Given the description of an element on the screen output the (x, y) to click on. 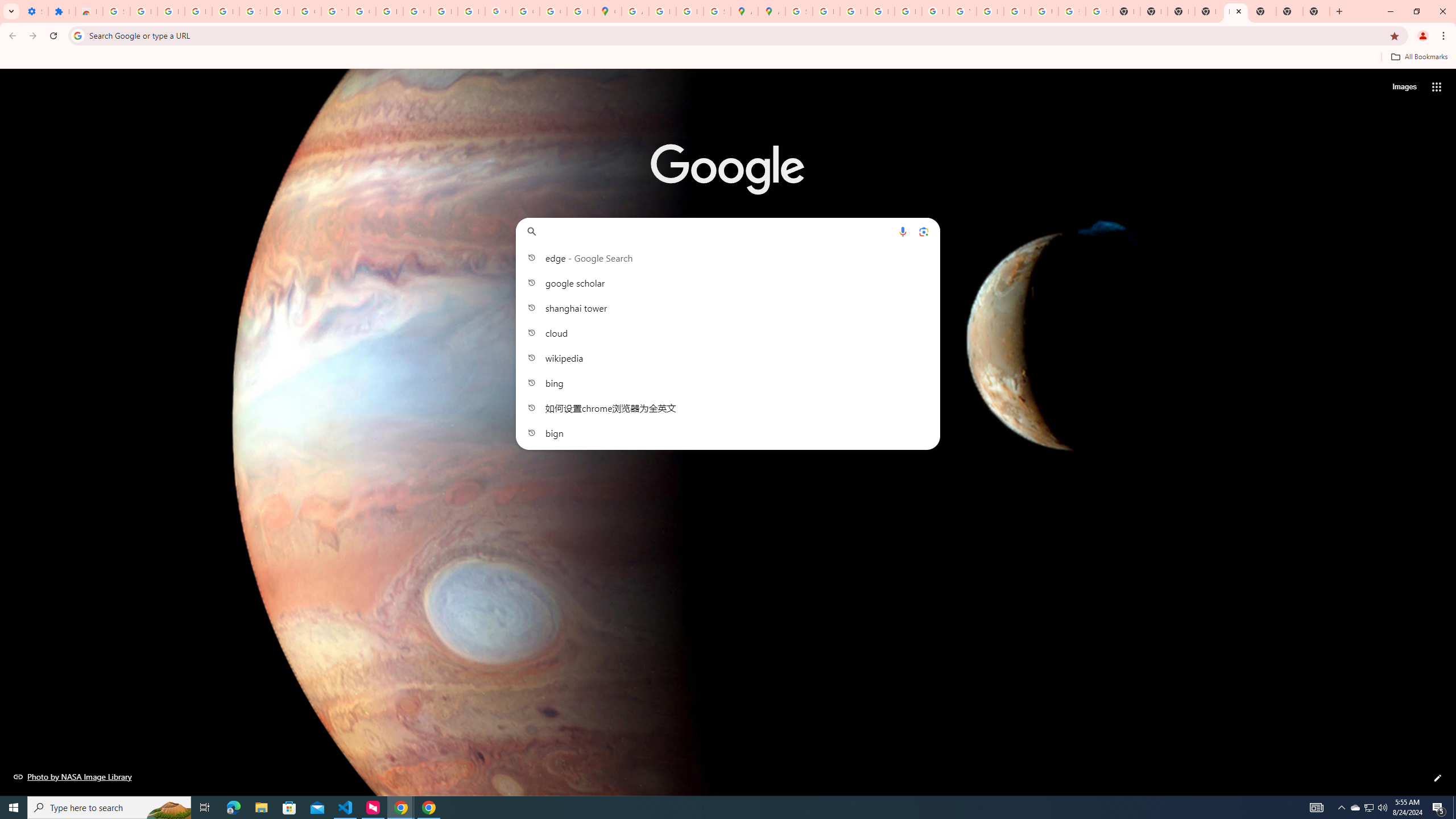
Search icon (77, 35)
Delete photos & videos - Computer - Google Photos Help (170, 11)
All Bookmarks (1418, 56)
Sign in - Google Accounts (116, 11)
Learn how to find your photos - Google Photos Help (197, 11)
Photo by NASA Image Library (72, 776)
Reviews: Helix Fruit Jump Arcade Game (88, 11)
Settings - On startup (34, 11)
Search for Images  (1403, 87)
